Given the description of an element on the screen output the (x, y) to click on. 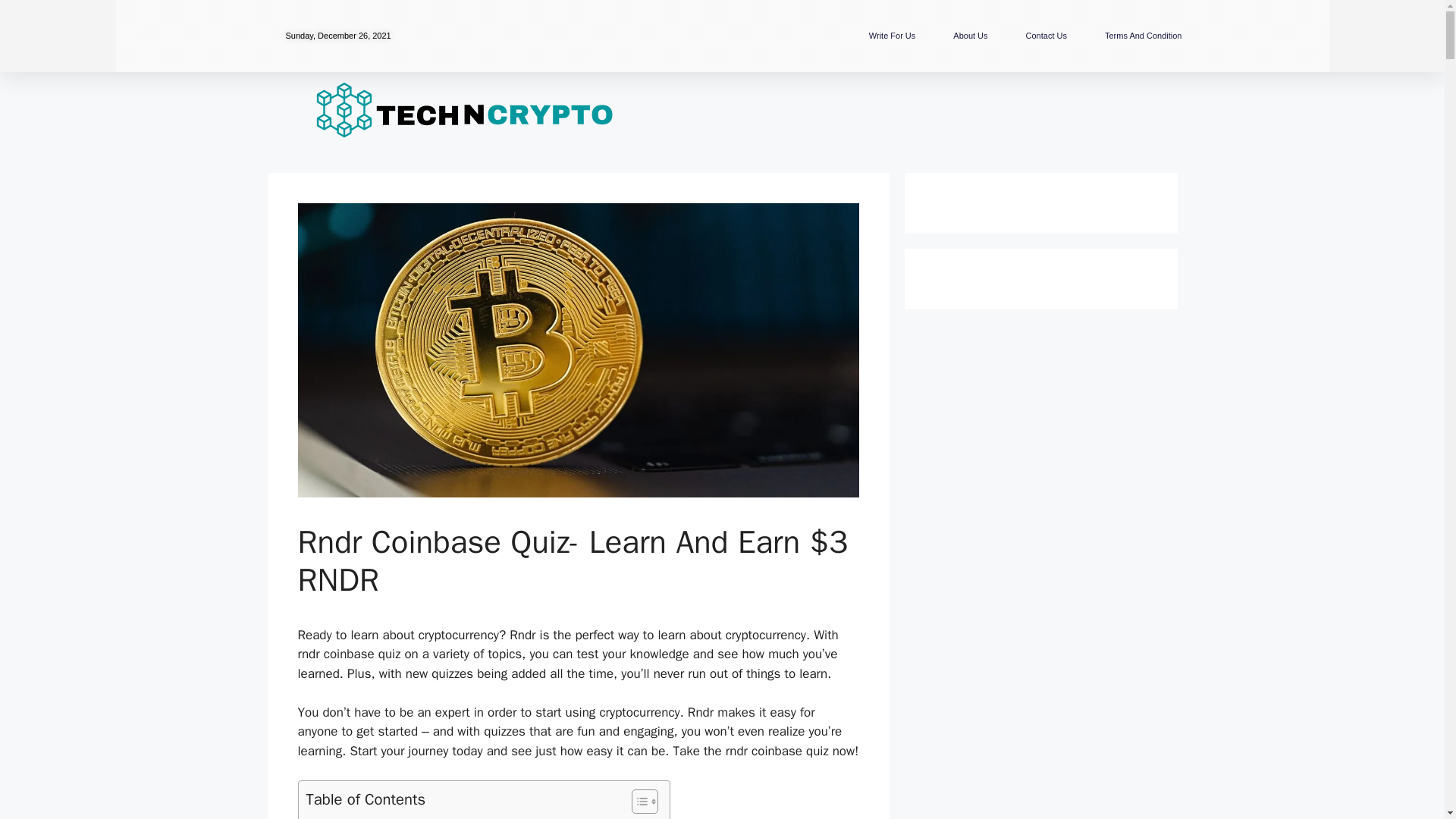
Write For Us (892, 35)
Rndr Coinbase Quiz Overview (389, 816)
Terms And Condition (1143, 35)
About Us (970, 35)
Contact Us (1046, 35)
Rndr Coinbase Quiz Overview (389, 816)
